Given the description of an element on the screen output the (x, y) to click on. 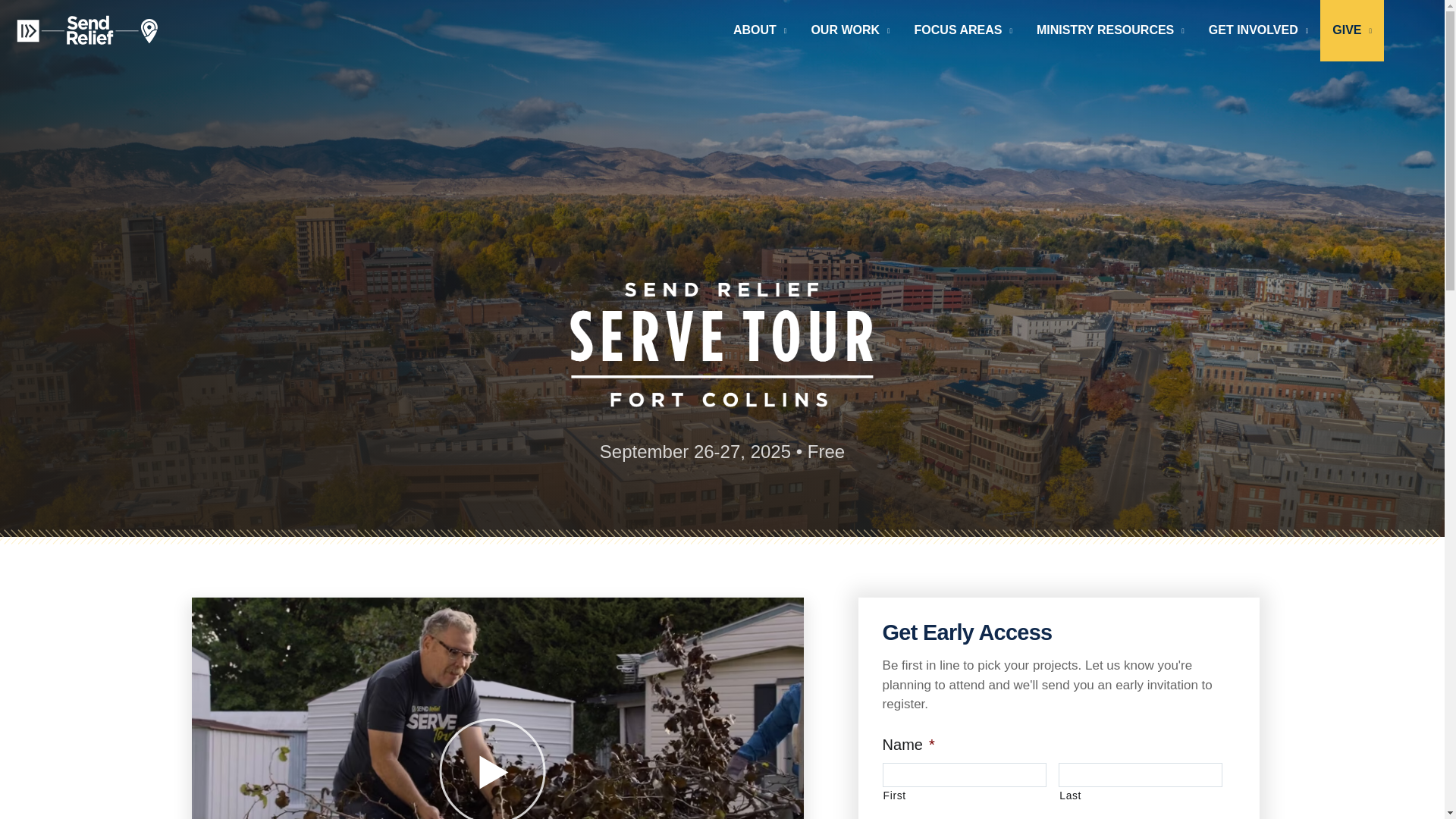
ABOUT (758, 30)
GET INVOLVED (1258, 30)
OUR WORK (849, 30)
MINISTRY RESOURCES (1110, 30)
FOCUS AREAS (963, 30)
